Given the description of an element on the screen output the (x, y) to click on. 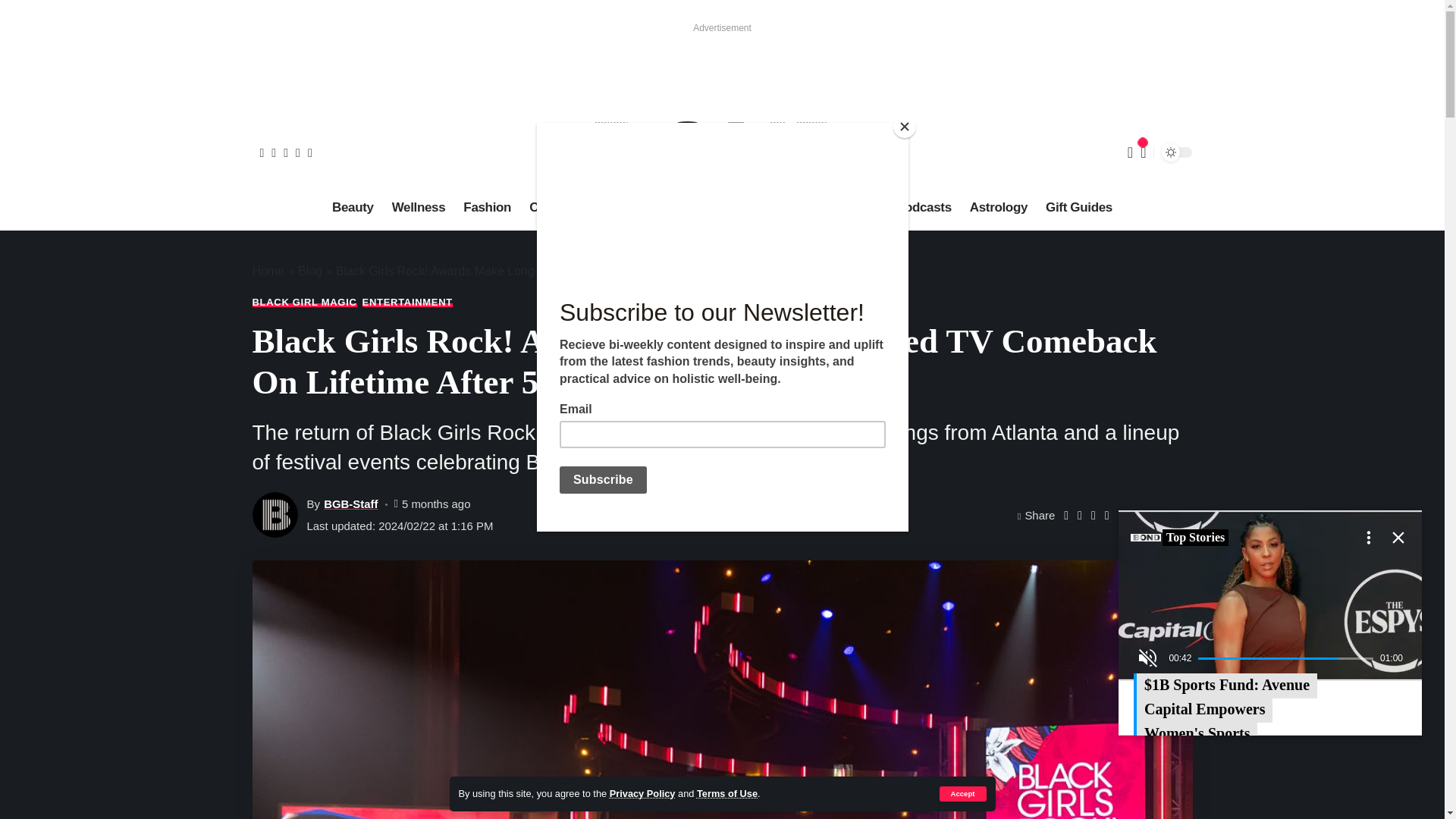
Beauty (352, 207)
Wellness (418, 207)
Accept (962, 793)
Fashion (486, 207)
Terms of Use (727, 793)
Privacy Policy (642, 793)
Business (617, 207)
Culture (549, 207)
3rd party ad content (721, 67)
